Given the description of an element on the screen output the (x, y) to click on. 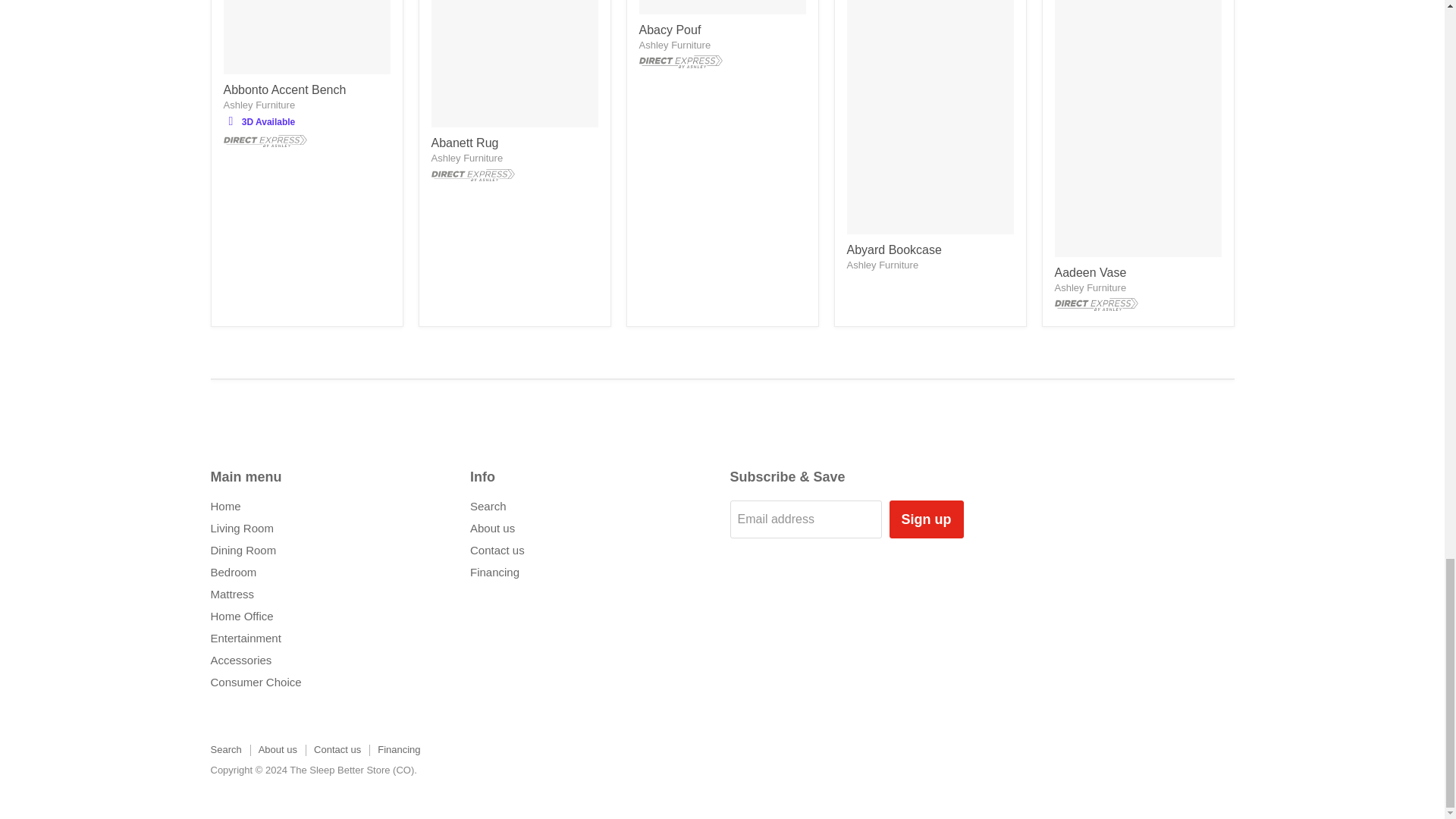
Ashley Furniture (881, 265)
Ashley Furniture (674, 44)
Ashley Furniture (1089, 287)
Ashley Furniture (466, 157)
Ashley Furniture (258, 104)
